Given the description of an element on the screen output the (x, y) to click on. 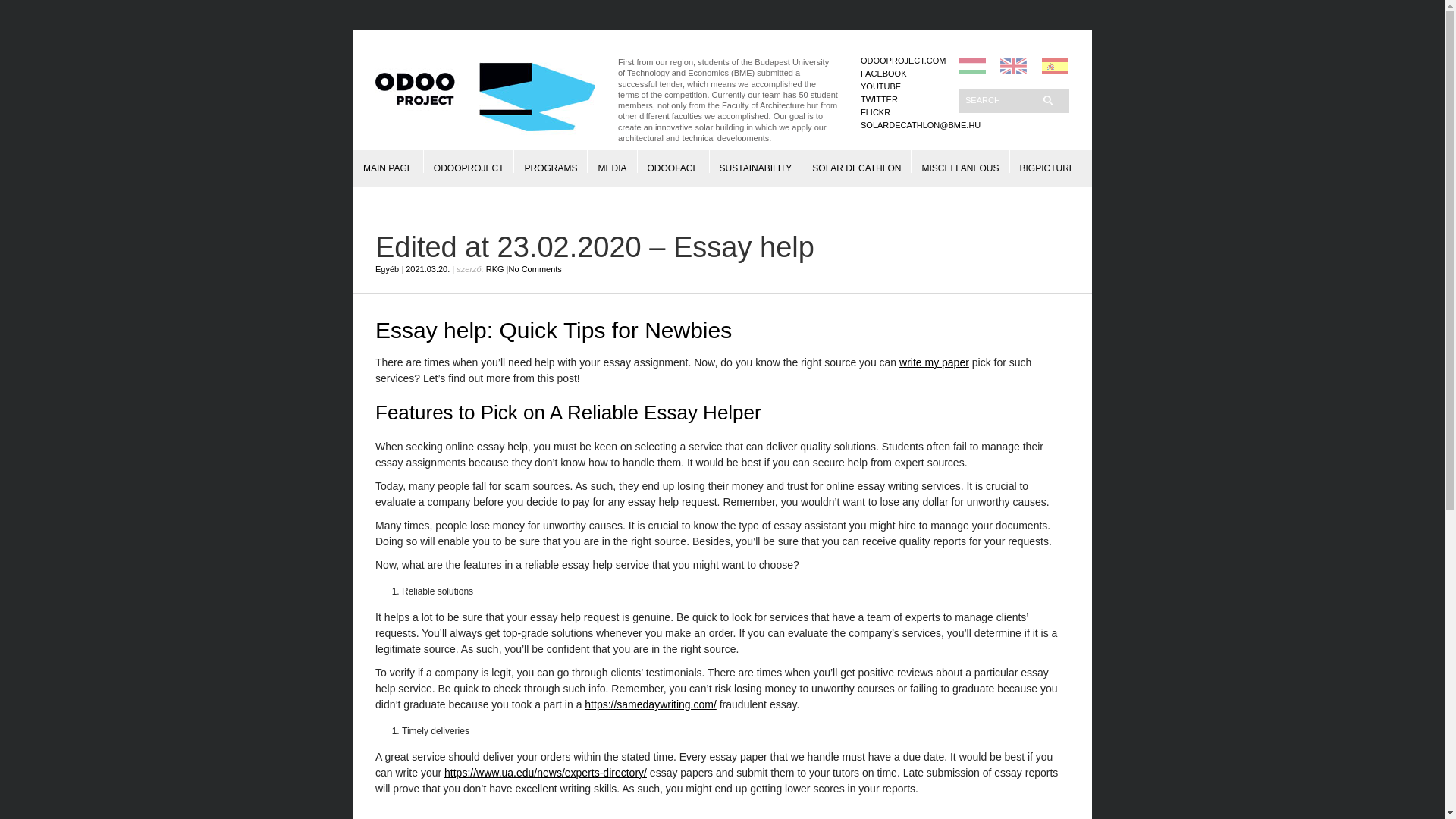
ODOOPROJECT.COM (902, 60)
BIGPICTURE (1046, 160)
SUSTAINABILITY (755, 160)
Posts by RKG (494, 268)
FLICKR (874, 112)
ODOOFACE (672, 160)
MISCELLANEOUS (959, 160)
MEDIA (611, 160)
RKG (494, 268)
TWITTER (879, 99)
PROGRAMS (550, 160)
Search (999, 99)
YOUTUBE (880, 85)
write my paper (934, 362)
ODOOPROJECT (468, 160)
